Given the description of an element on the screen output the (x, y) to click on. 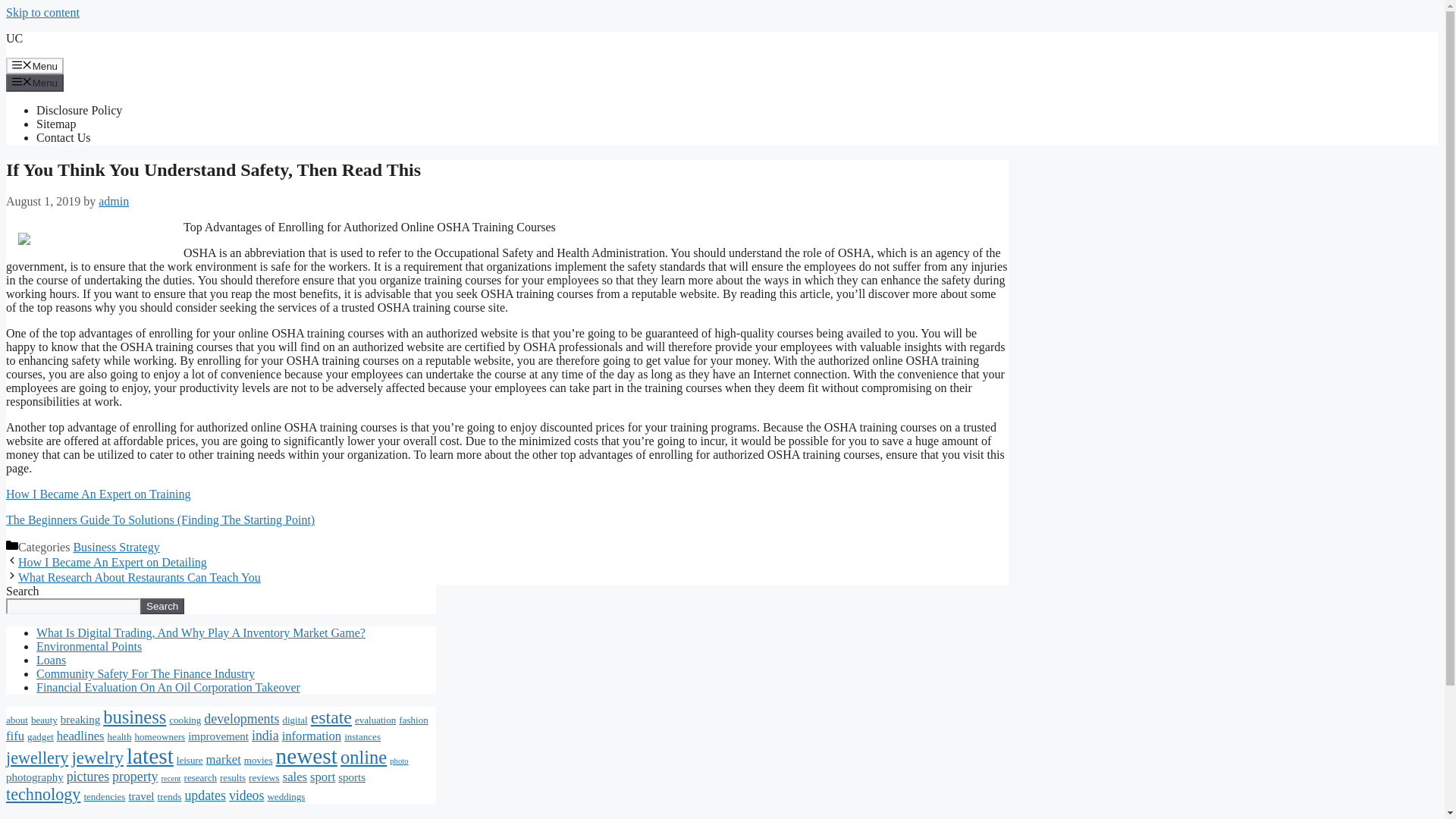
india (265, 735)
Skip to content (42, 11)
View all posts by admin (114, 201)
homeowners (158, 736)
Disclosure Policy (79, 110)
Business Strategy (115, 546)
admin (114, 201)
Contact Us (63, 137)
estate (331, 717)
about (16, 719)
